Given the description of an element on the screen output the (x, y) to click on. 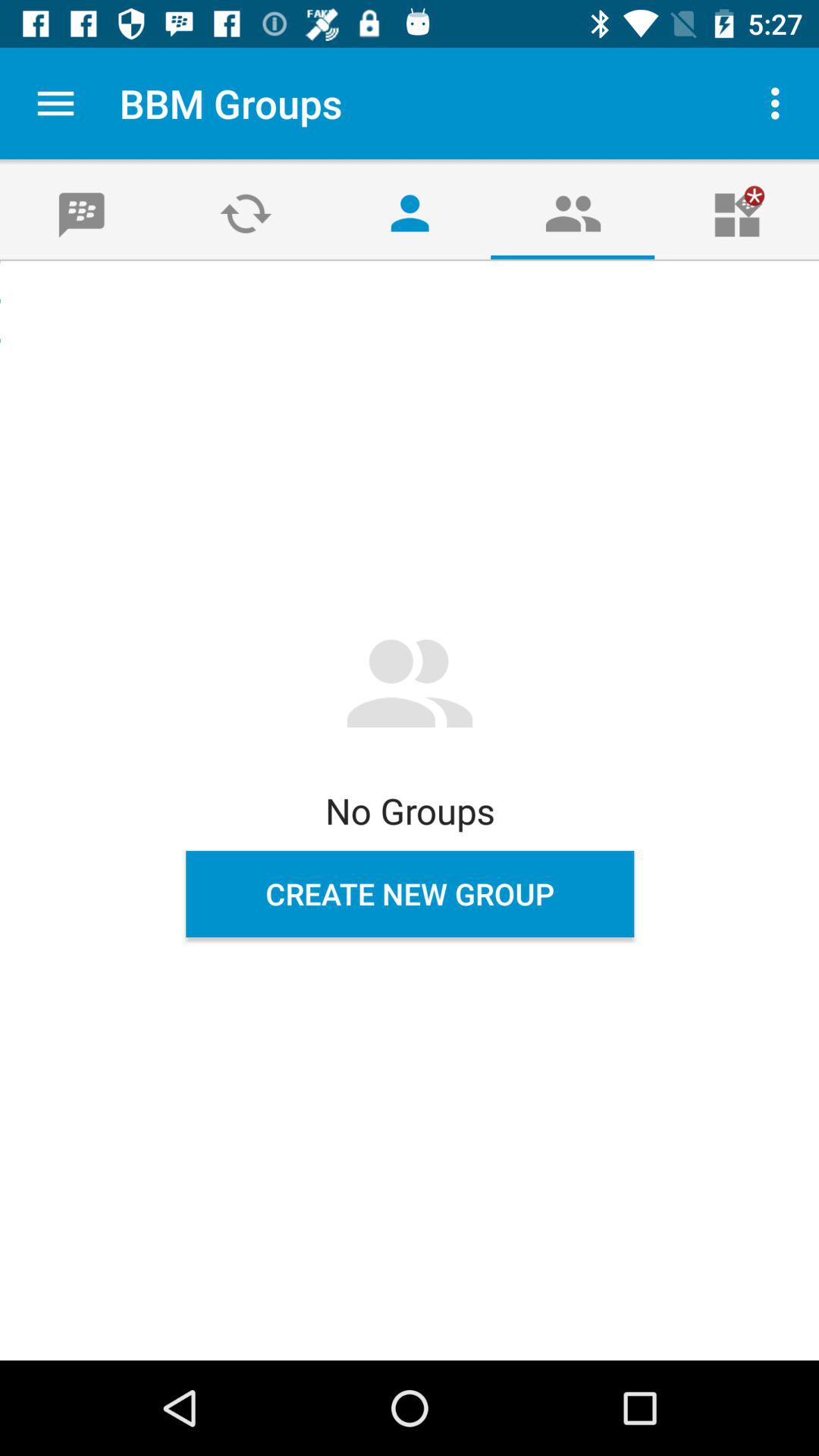
tap create new group icon (409, 893)
